Given the description of an element on the screen output the (x, y) to click on. 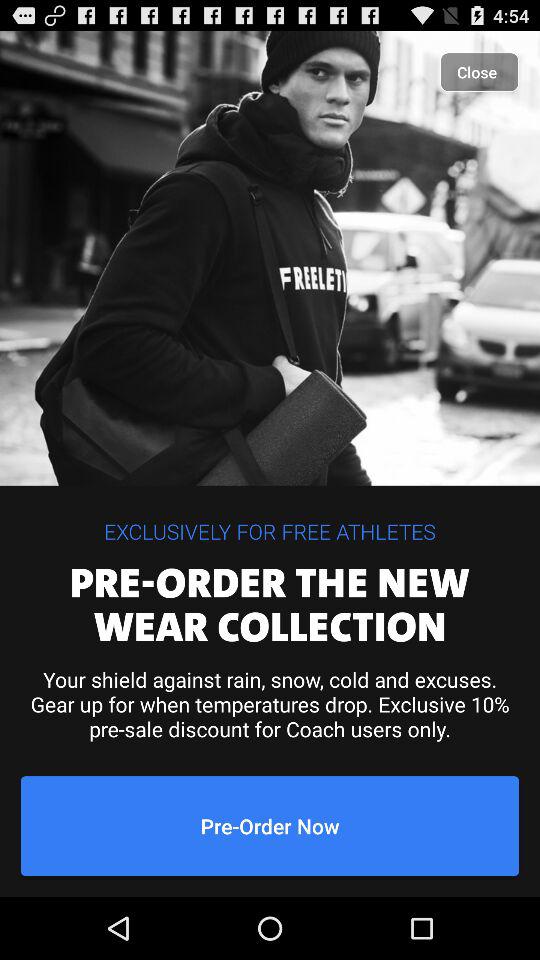
choose the close icon (479, 71)
